Given the description of an element on the screen output the (x, y) to click on. 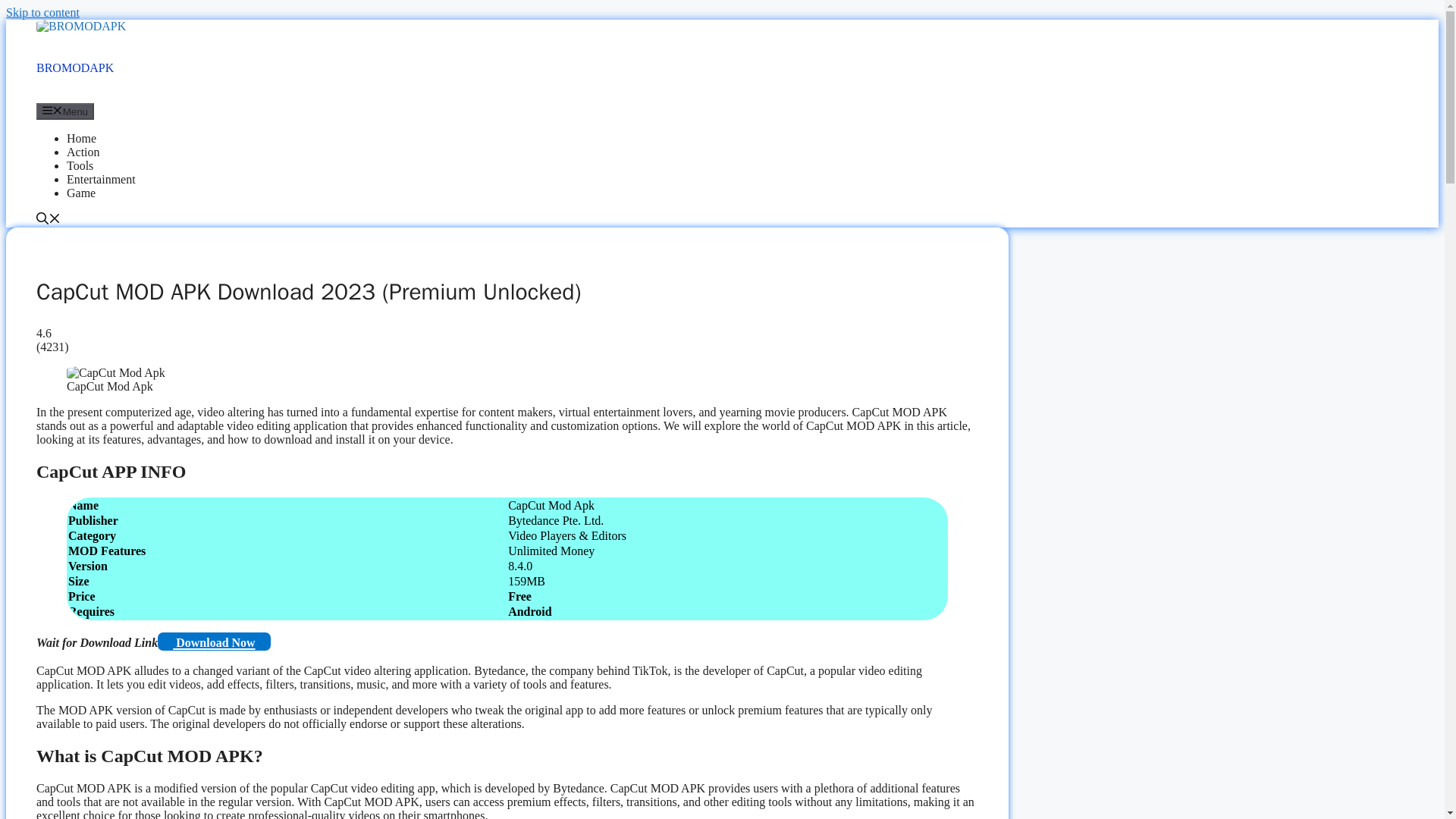
Home (81, 137)
Menu (65, 111)
Action (83, 151)
Download Now (213, 641)
Tools (79, 164)
BROMODAPK (80, 25)
Game (81, 192)
Skip to content (42, 11)
BROMODAPK (80, 26)
Entertainment (100, 178)
